Given the description of an element on the screen output the (x, y) to click on. 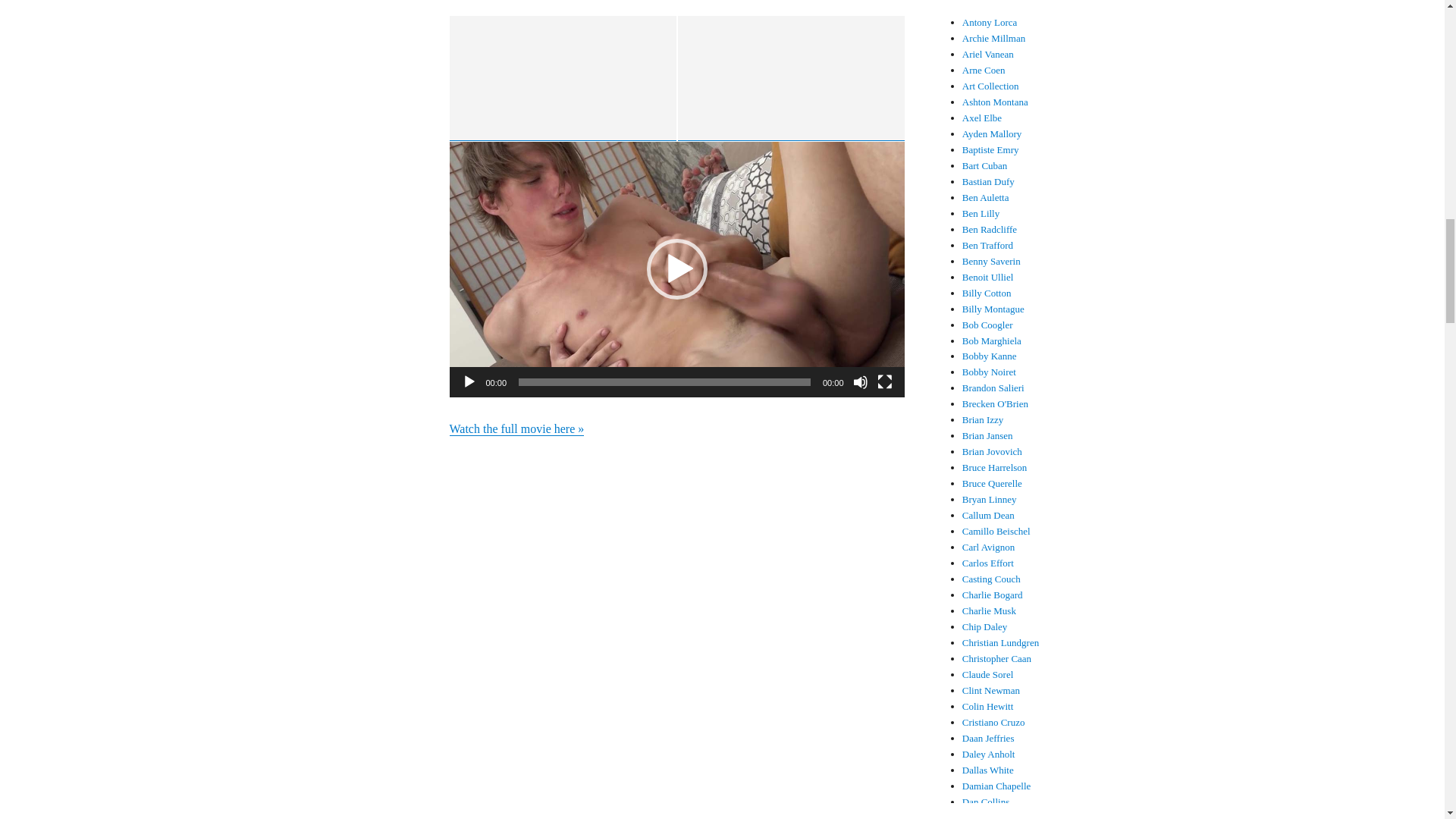
Mute (859, 381)
Fullscreen (883, 381)
Play (468, 381)
